Given the description of an element on the screen output the (x, y) to click on. 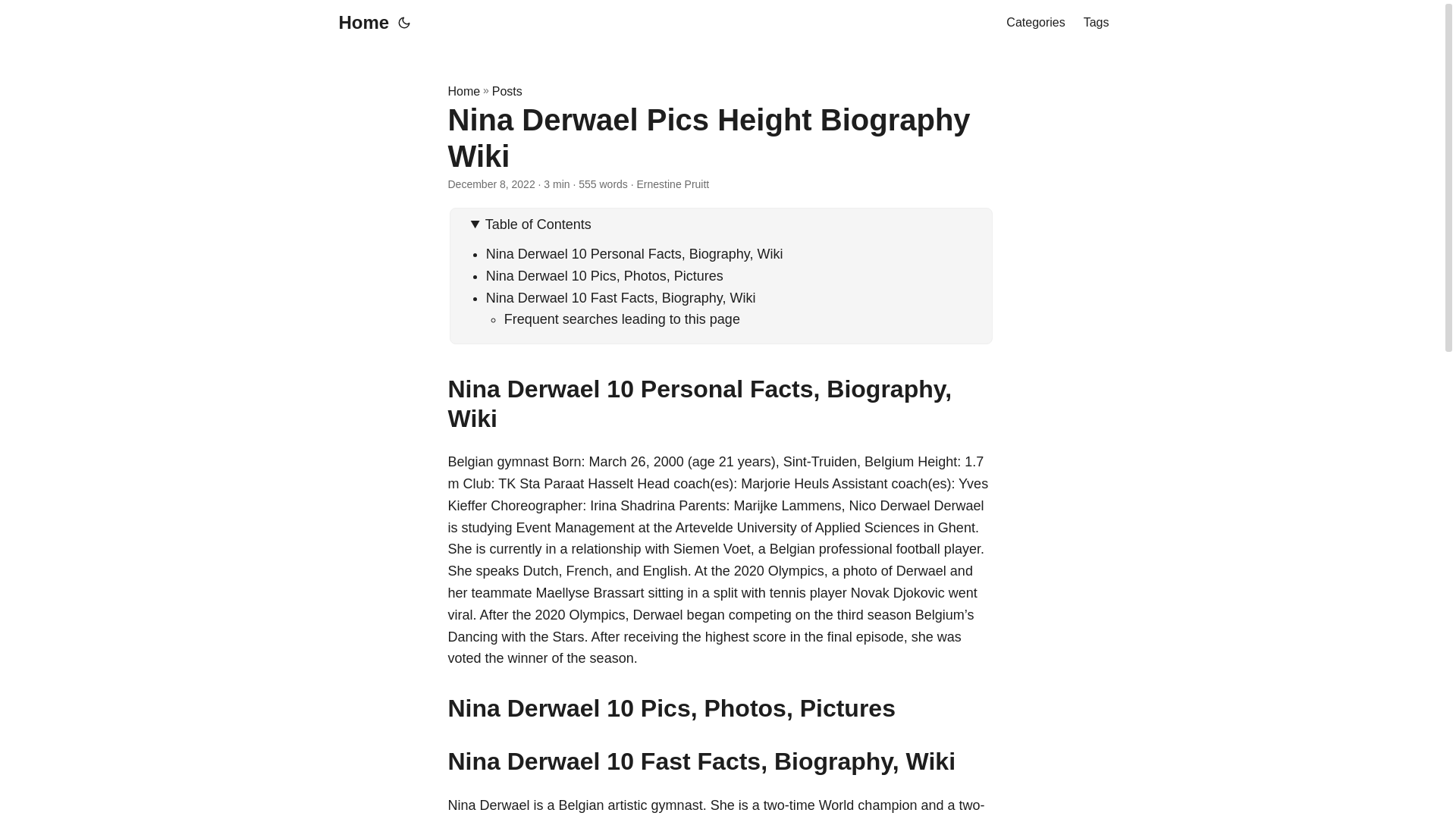
Categories (1035, 22)
Frequent searches leading to this page (621, 319)
Nina Derwael 10 Pics, Photos, Pictures (604, 275)
Nina Derwael 10 Personal Facts, Biography, Wiki (634, 253)
Categories (1035, 22)
Nina Derwael 10 Fast Facts, Biography, Wiki (620, 297)
Posts (507, 91)
Home (359, 22)
Home (463, 91)
